Given the description of an element on the screen output the (x, y) to click on. 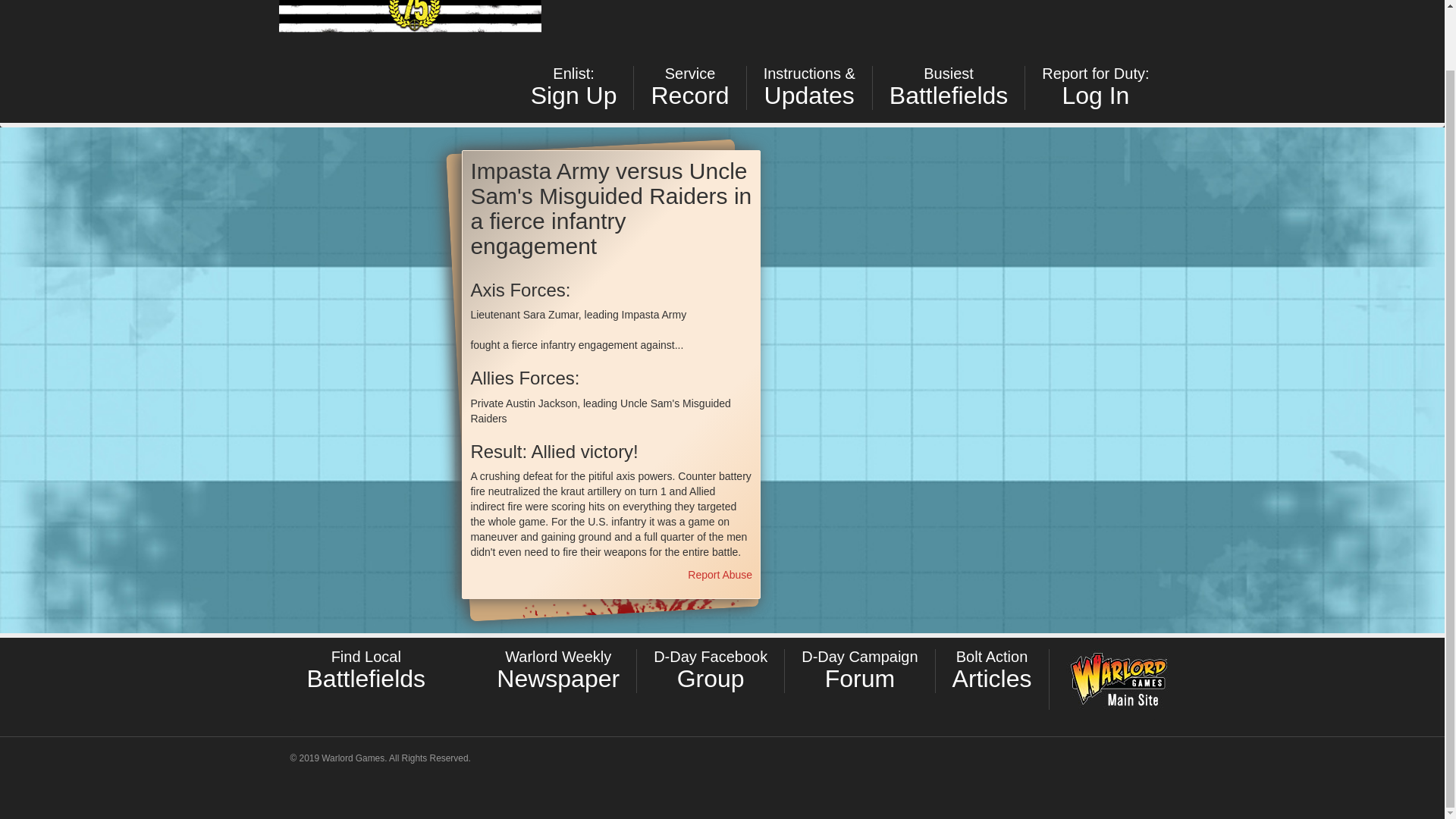
Report Abuse (710, 670)
D-Day Campaign - Home Page (558, 670)
